Given the description of an element on the screen output the (x, y) to click on. 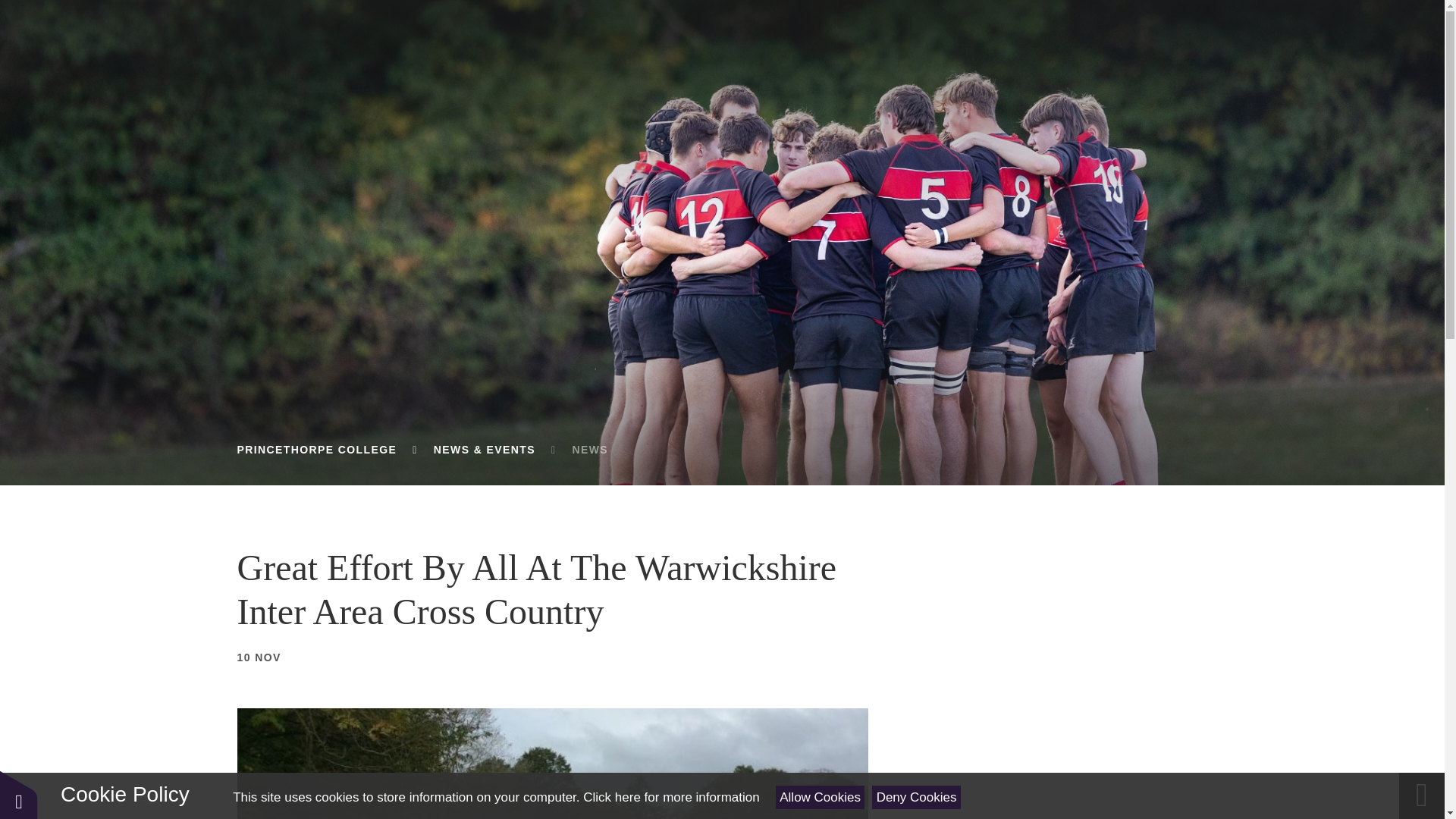
See cookie policy (670, 797)
Deny Cookies (915, 797)
Allow Cookies (820, 797)
